Given the description of an element on the screen output the (x, y) to click on. 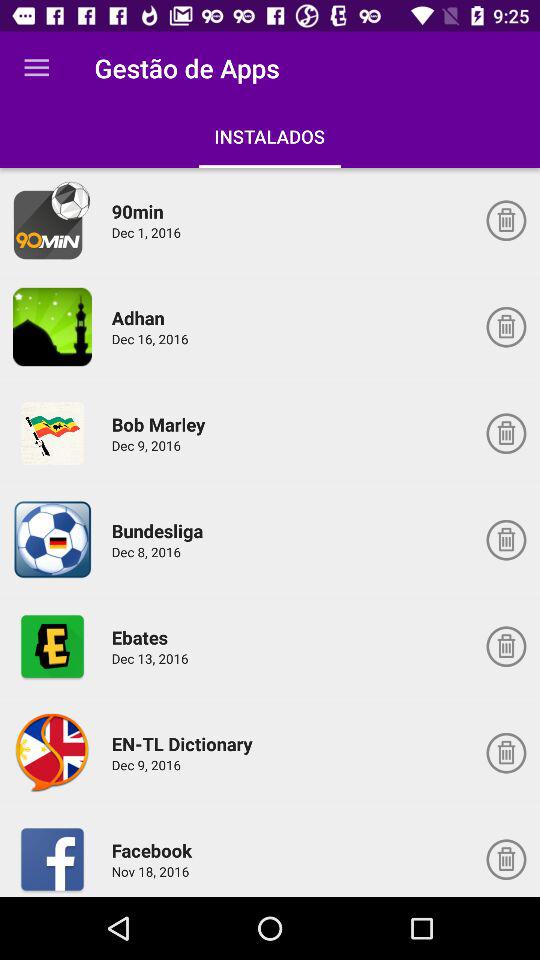
delete app (505, 646)
